Given the description of an element on the screen output the (x, y) to click on. 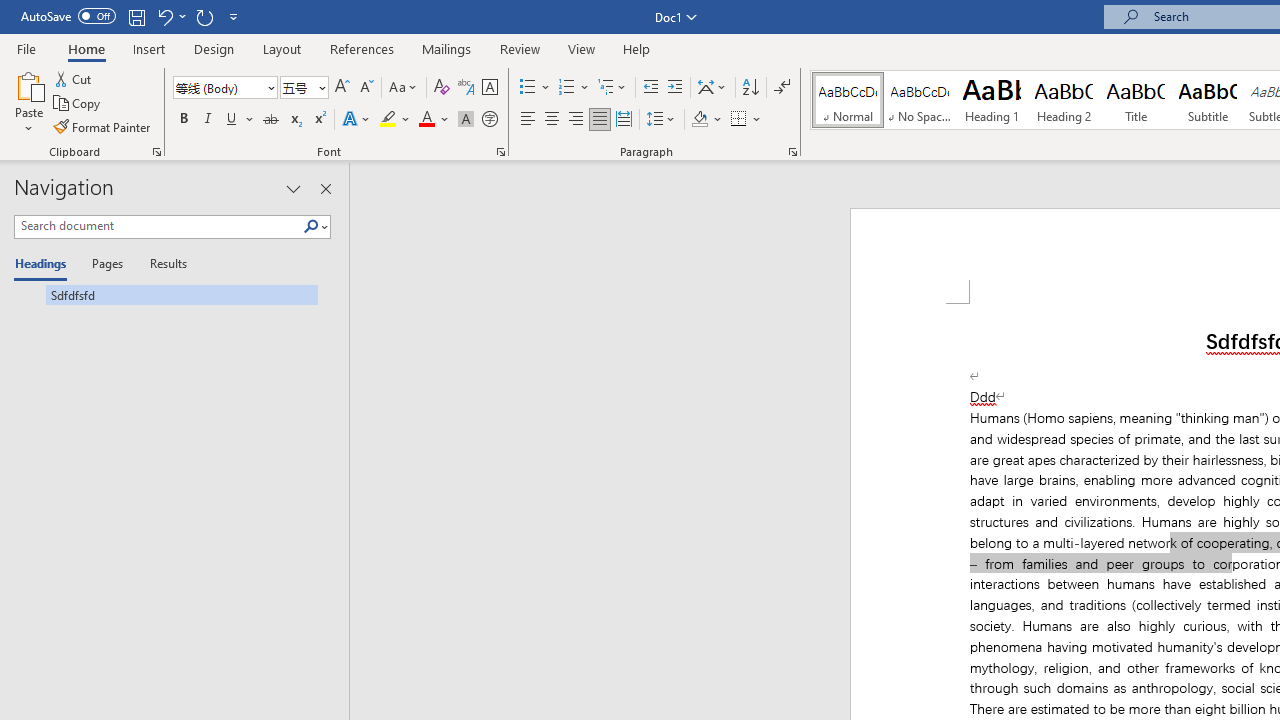
Align Right (575, 119)
Pages (105, 264)
Insert (149, 48)
Borders (739, 119)
Increase Indent (675, 87)
Task Pane Options (293, 188)
Mailings (447, 48)
Close pane (325, 188)
More Options (757, 119)
Bullets (535, 87)
Quick Access Toolbar (131, 16)
Grow Font (342, 87)
Numbering (566, 87)
Asian Layout (712, 87)
